Given the description of an element on the screen output the (x, y) to click on. 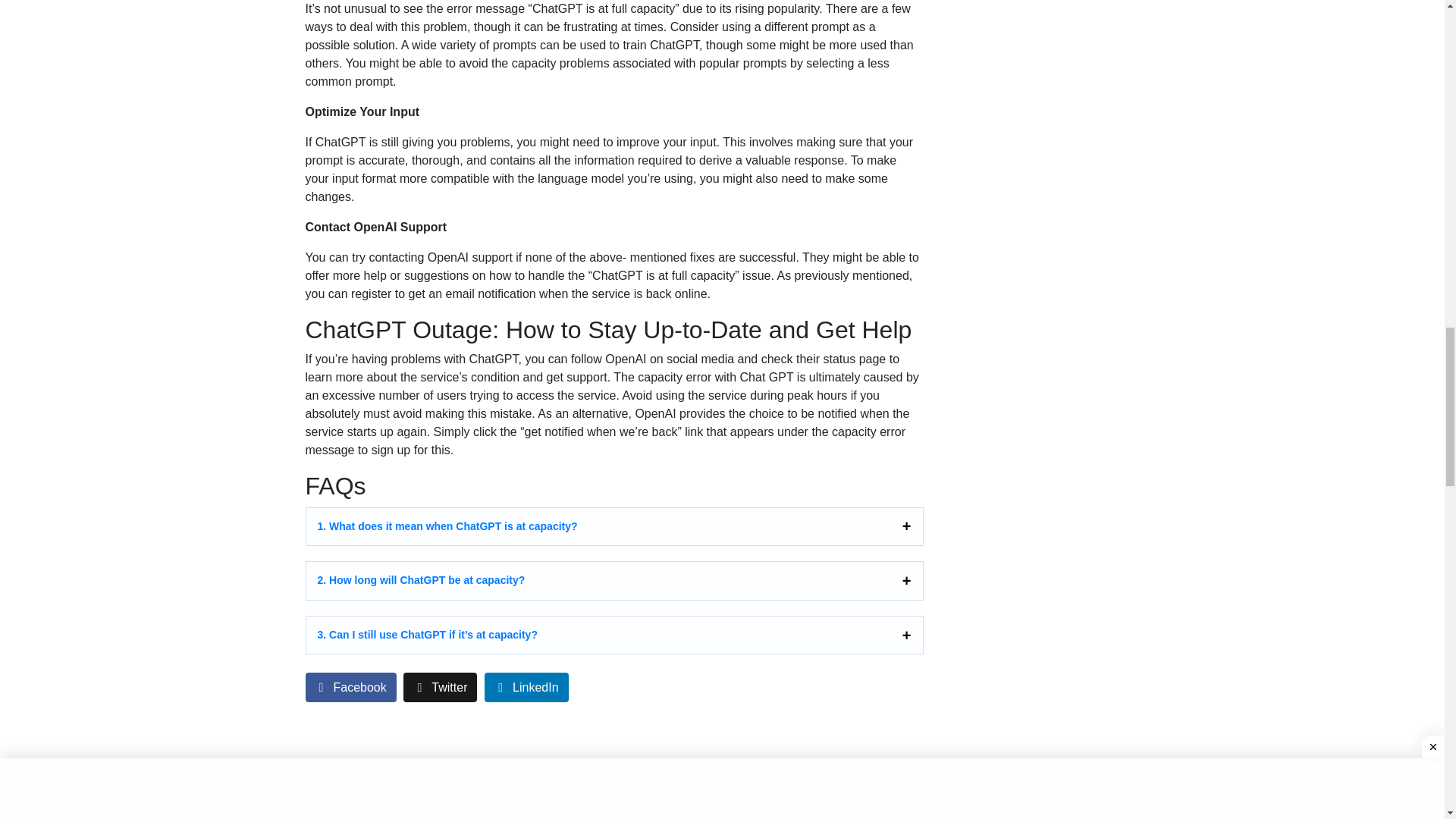
Top 4 ChatGPT Alternatives In 2023 (454, 788)
1. What does it mean when ChatGPT is at capacity? (614, 526)
Twitter (440, 686)
2. How long will ChatGPT be at capacity? (614, 580)
Facebook (774, 788)
ChatGPT Login Issue Fixed in 10 Ways (350, 686)
LinkedIn (774, 788)
